Given the description of an element on the screen output the (x, y) to click on. 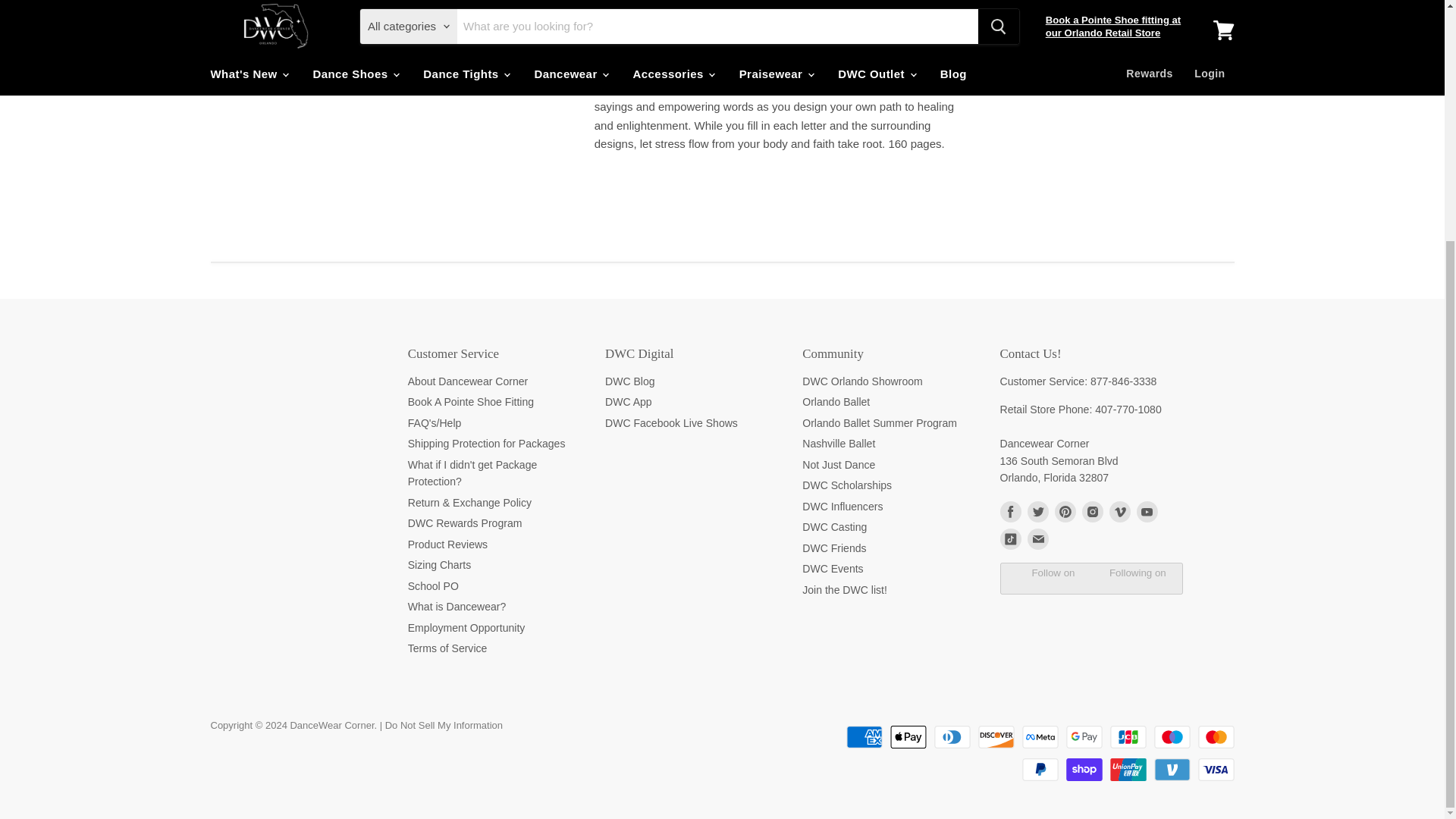
Instagram (1091, 511)
Vimeo (1118, 511)
Youtube (1146, 511)
Twitter (1037, 511)
Pinterest (1064, 511)
TikTok (1009, 538)
Email (1037, 538)
Facebook (1009, 511)
